Given the description of an element on the screen output the (x, y) to click on. 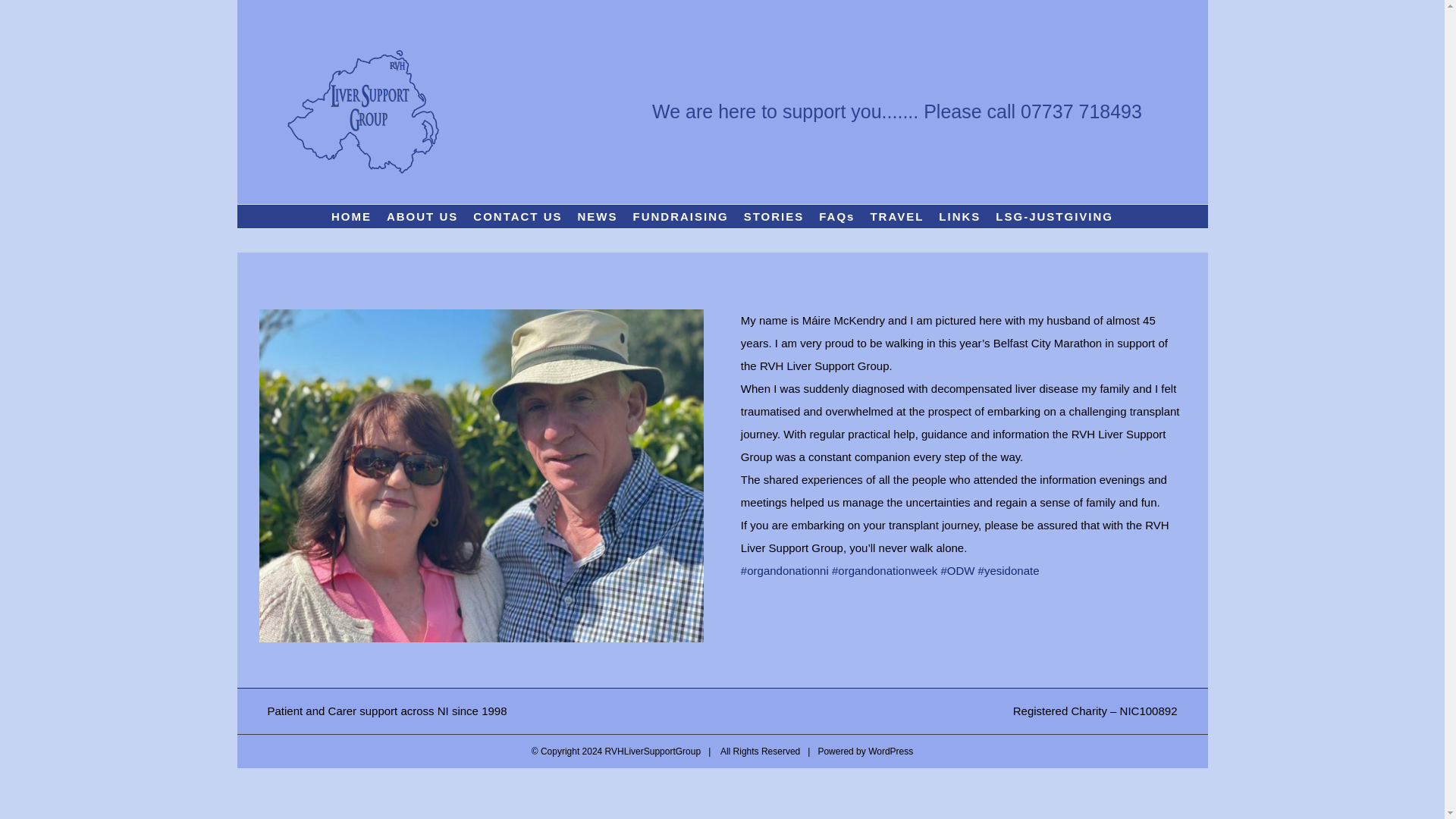
ABOUT US (421, 216)
FAQs (835, 216)
NEWS (598, 216)
TRAVEL (896, 216)
LSG-JUSTGIVING (1054, 216)
FUNDRAISING (681, 216)
HOME (350, 216)
LINKS (959, 216)
WordPress (889, 751)
CONTACT US (517, 216)
STORIES (774, 216)
